Given the description of an element on the screen output the (x, y) to click on. 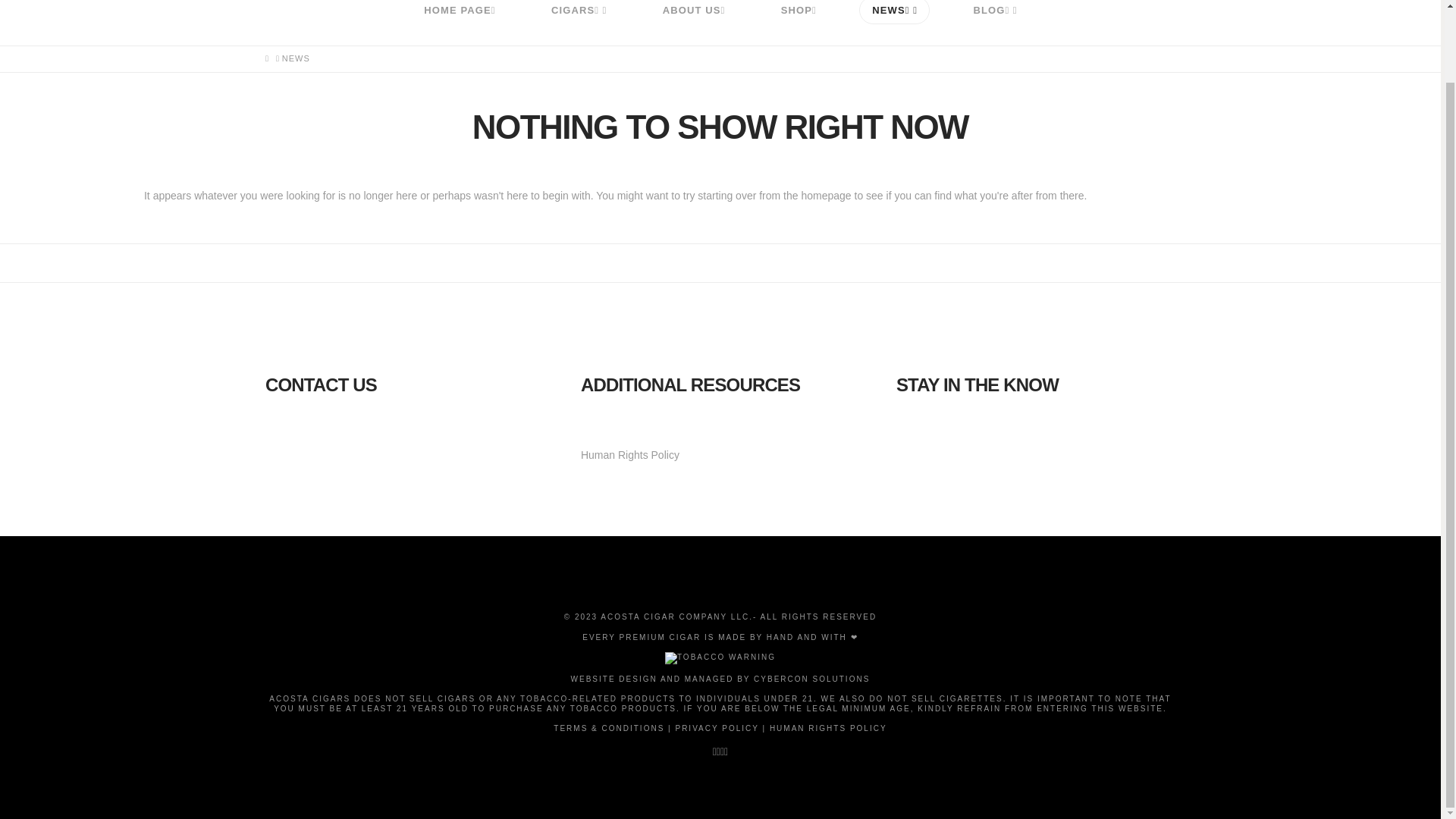
CIGARS (578, 22)
NEWS (296, 58)
Human Rights Policy (828, 727)
CYBERCON SOLUTIONS (811, 678)
HOME (266, 58)
Facebook (714, 751)
Human Rights Policy (629, 454)
PRIVACY POLICY (716, 727)
SHOP (798, 22)
HOME PAGE (459, 22)
Privacy Policy (716, 727)
Instagram (725, 751)
HUMAN RIGHTS POLICY (828, 727)
LinkedIn (721, 751)
NEWS (894, 22)
